Given the description of an element on the screen output the (x, y) to click on. 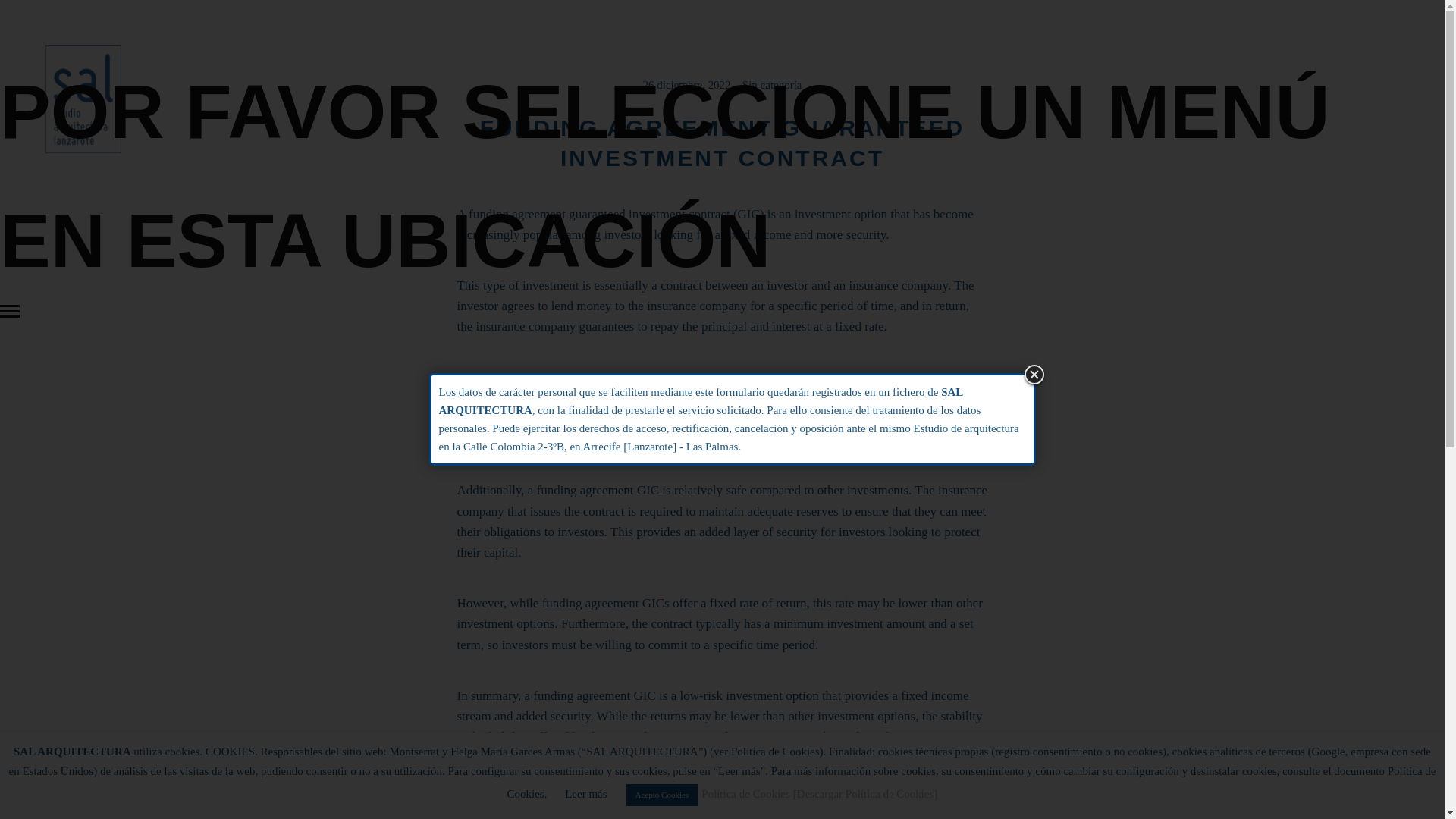
Acepto Cookies (662, 794)
